Given the description of an element on the screen output the (x, y) to click on. 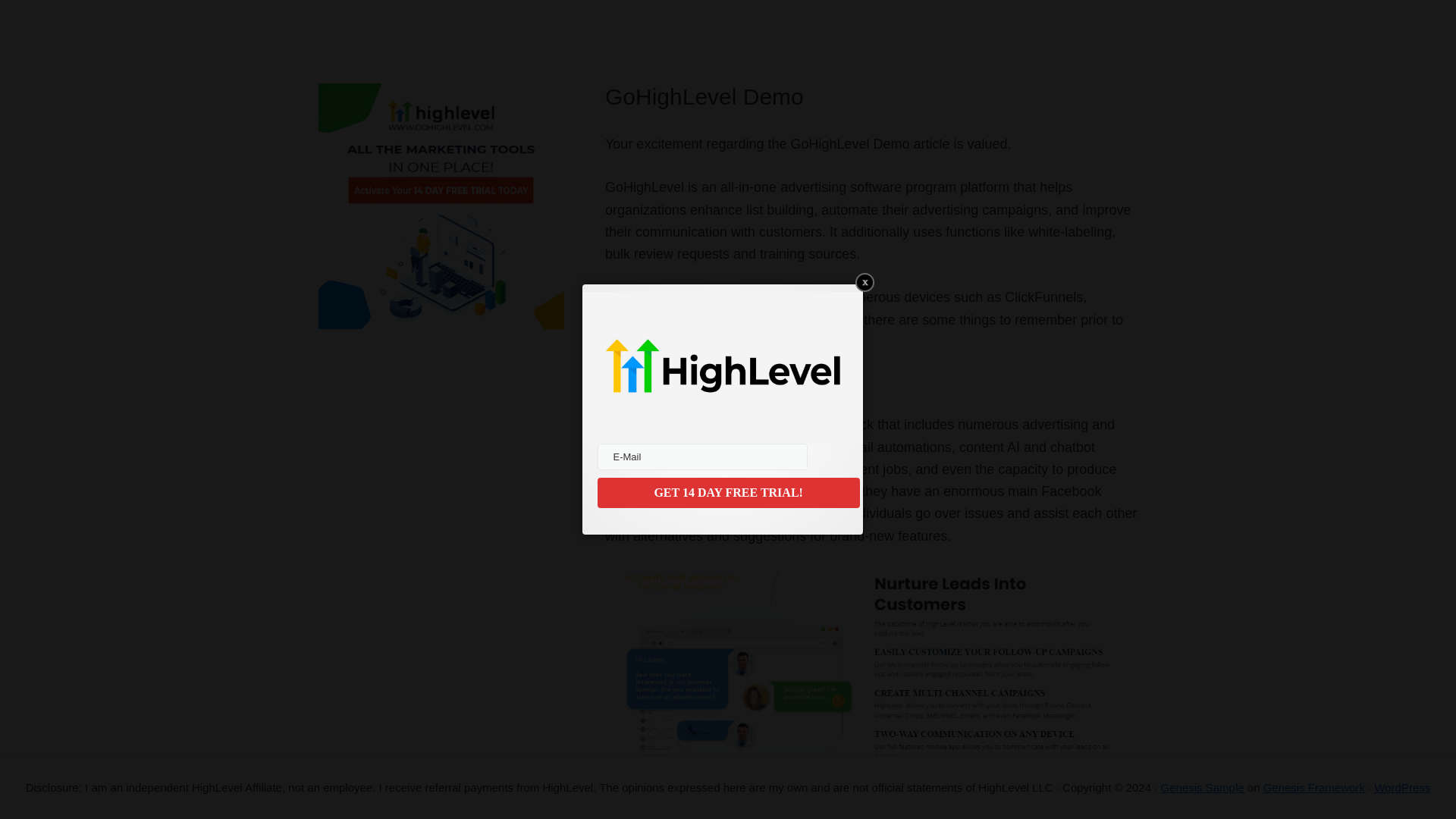
WordPress (1401, 787)
Genesis Framework (1314, 787)
GET 14 DAY FREE TRIAL! (728, 492)
GET 14 DAY FREE TRIAL! (728, 492)
Genesis Sample (1202, 787)
GoHighLevel Demo (704, 96)
